Given the description of an element on the screen output the (x, y) to click on. 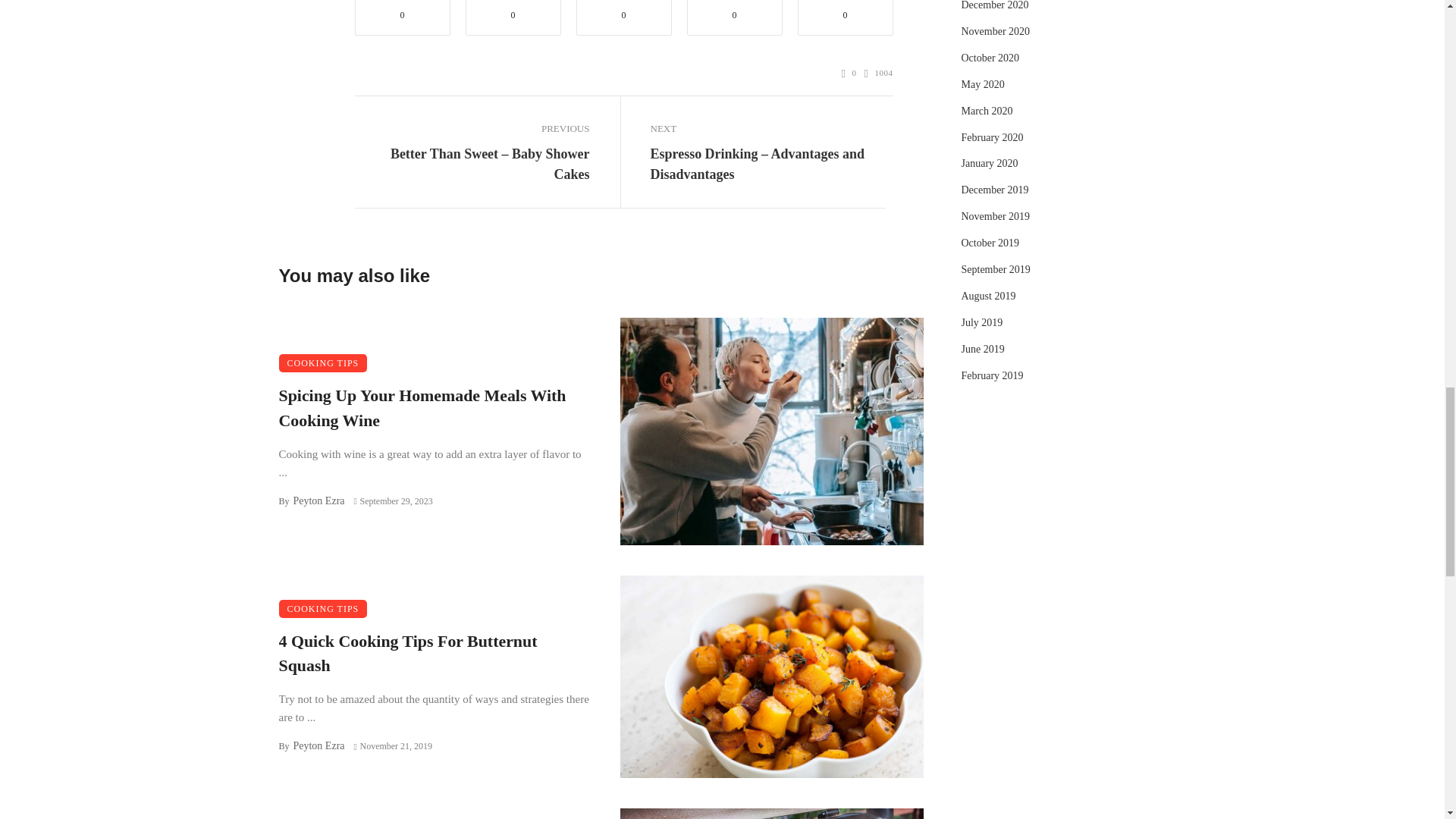
1004 (878, 73)
Peyton Ezra (317, 500)
NEXT (767, 128)
Spicing Up Your Homemade Meals With Cooking Wine (434, 409)
COOKING TIPS (323, 362)
0 (849, 73)
PREVIOUS (472, 128)
